Given the description of an element on the screen output the (x, y) to click on. 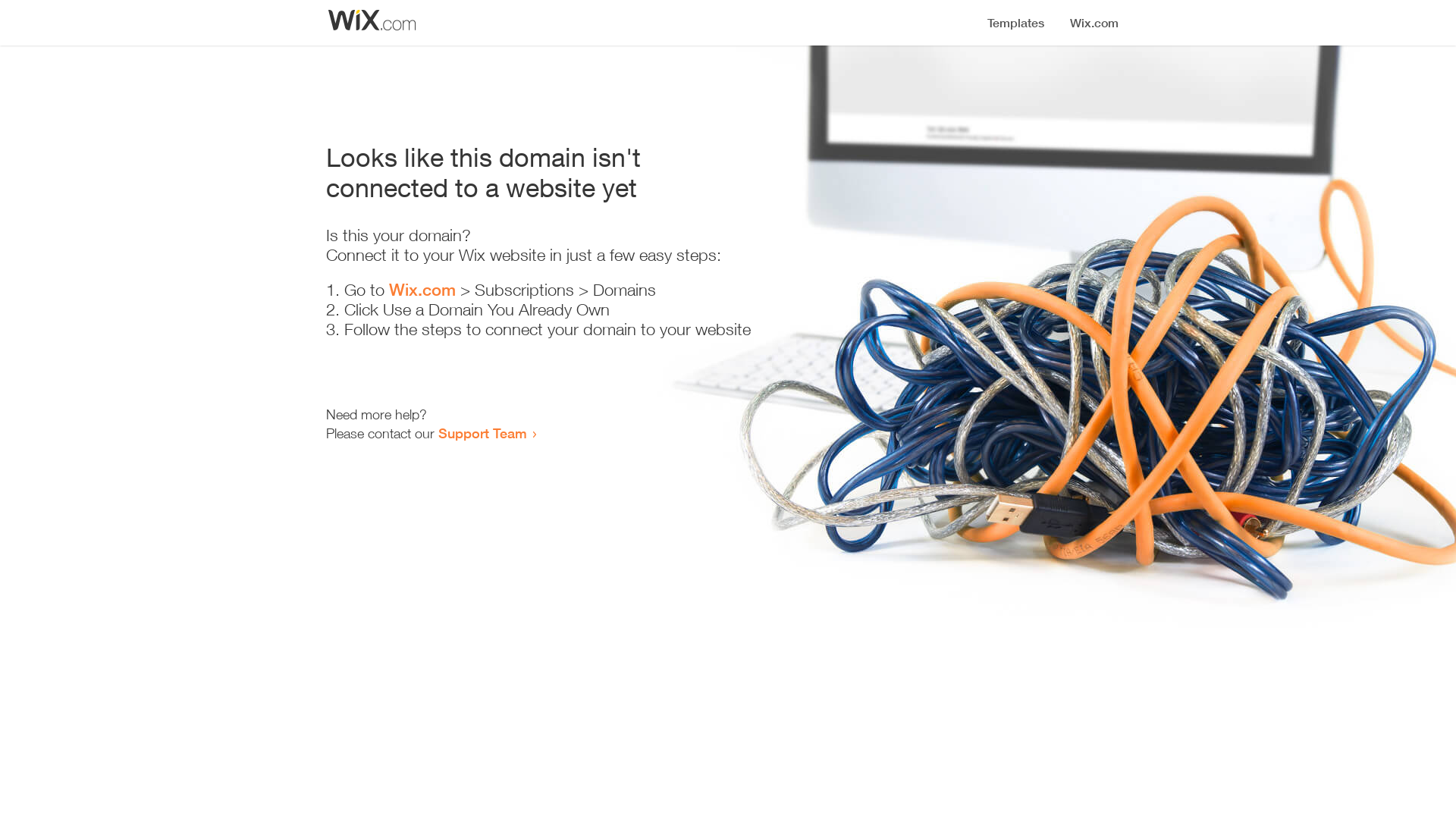
Wix.com Element type: text (422, 289)
Support Team Element type: text (482, 432)
